Given the description of an element on the screen output the (x, y) to click on. 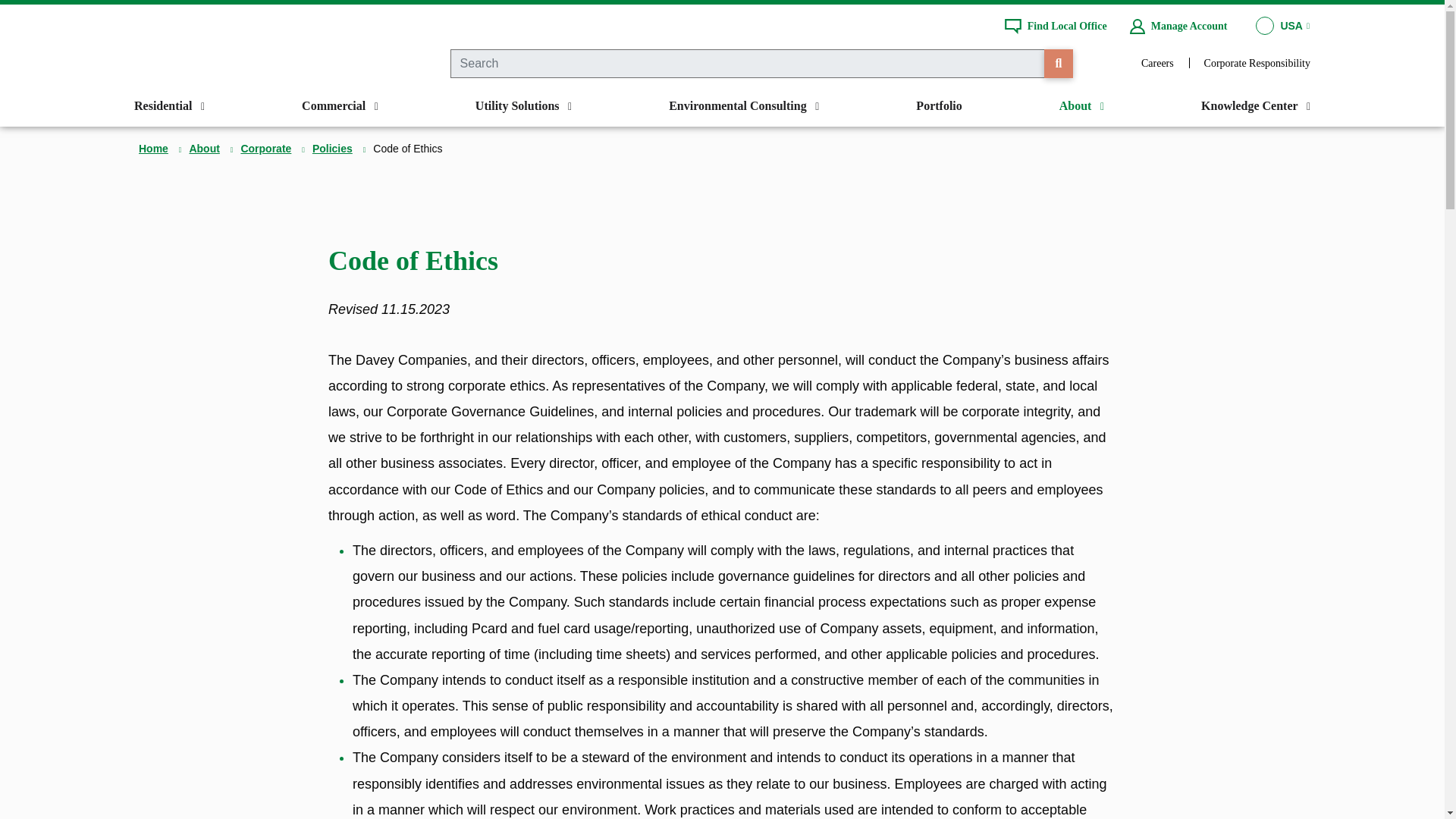
Search (1058, 63)
Careers (1157, 62)
Find Local Office (1055, 26)
Commercial (339, 105)
USA (1282, 25)
Manage Account (1178, 26)
SEARCH (1058, 63)
Residential (168, 105)
Corporate Responsibility (1257, 62)
